Given the description of an element on the screen output the (x, y) to click on. 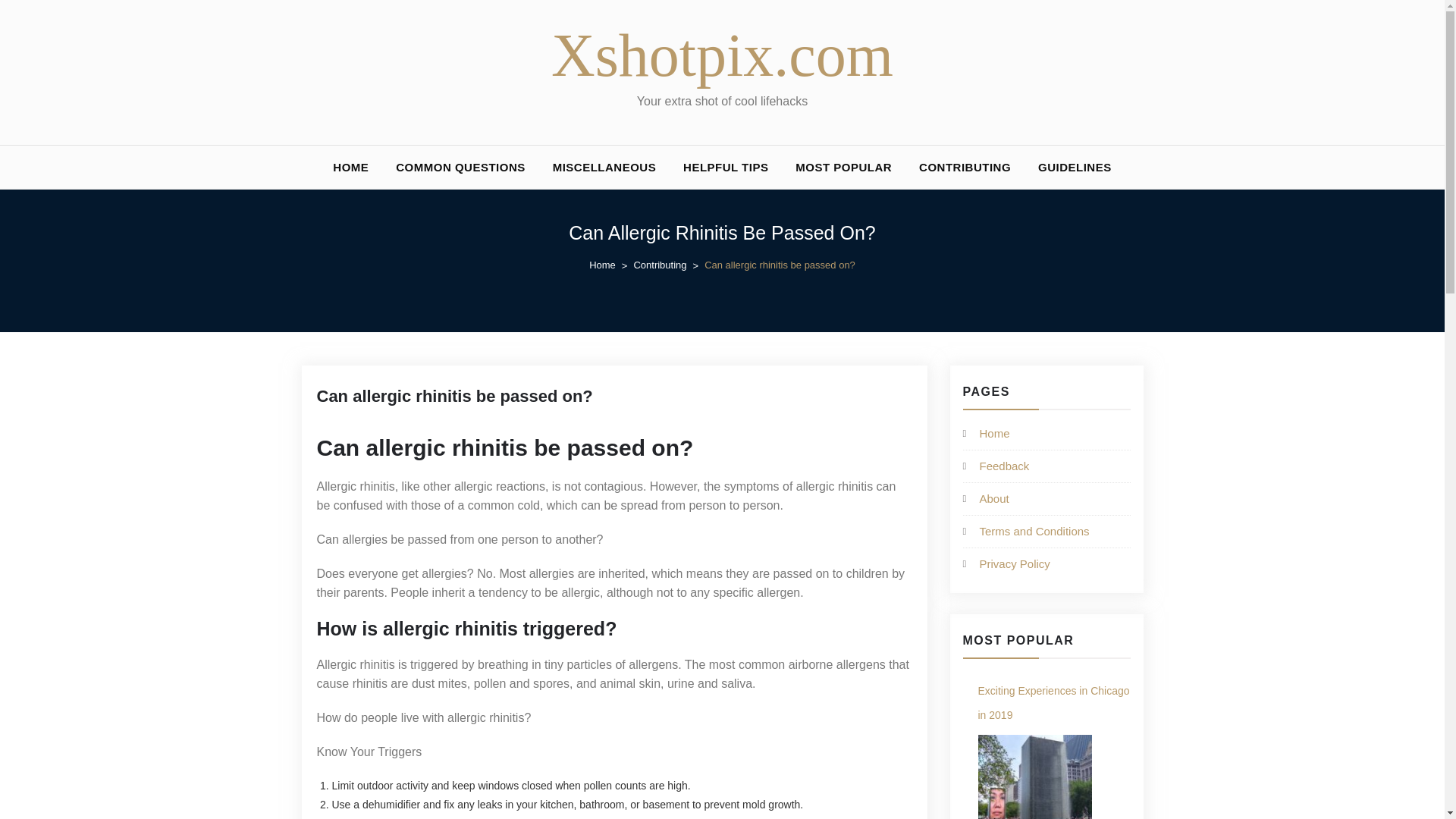
Feedback (1004, 465)
Home (611, 265)
Home (994, 432)
Contributing (668, 265)
MISCELLANEOUS (604, 167)
Can allergic rhinitis be passed on? (454, 395)
Terms and Conditions (1034, 530)
CONTRIBUTING (965, 167)
About (994, 498)
Xshotpix.com (722, 55)
